Given the description of an element on the screen output the (x, y) to click on. 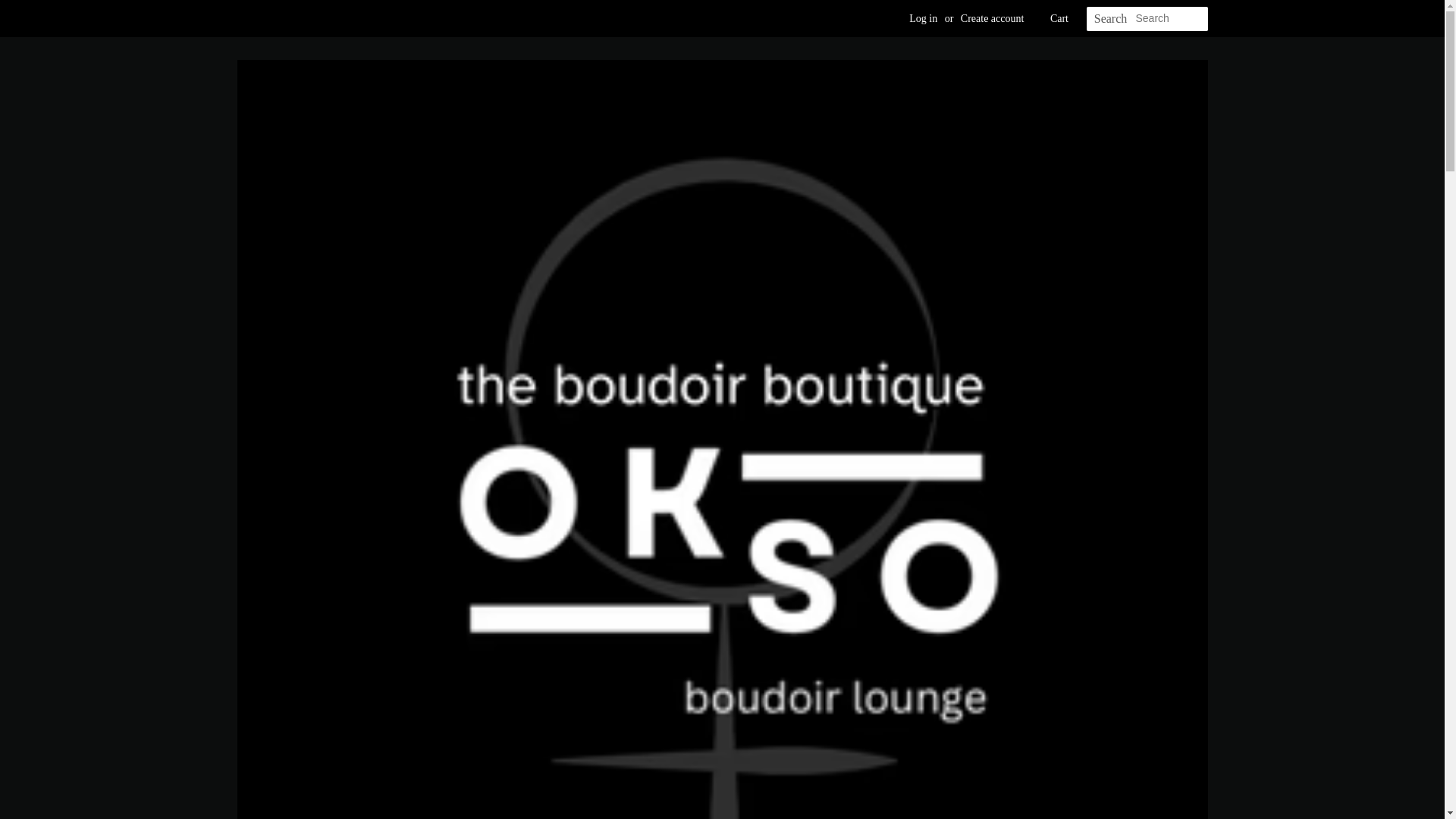
Search (1110, 18)
Create account (992, 18)
Log in (922, 18)
Cart (1058, 18)
